Given the description of an element on the screen output the (x, y) to click on. 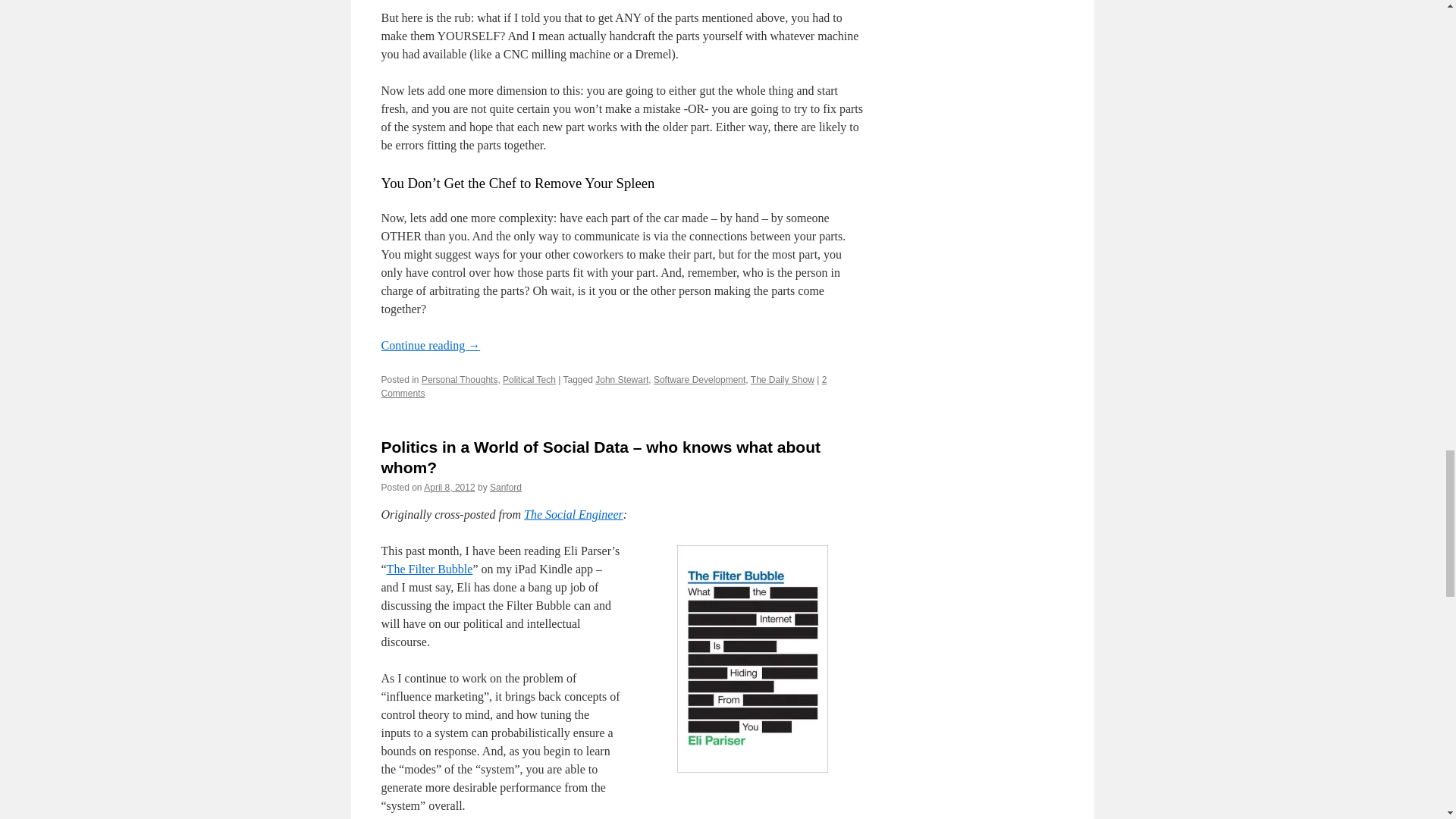
View all posts by Sanford (505, 487)
The Filter Bubble (752, 659)
11:29 am (448, 487)
